Given the description of an element on the screen output the (x, y) to click on. 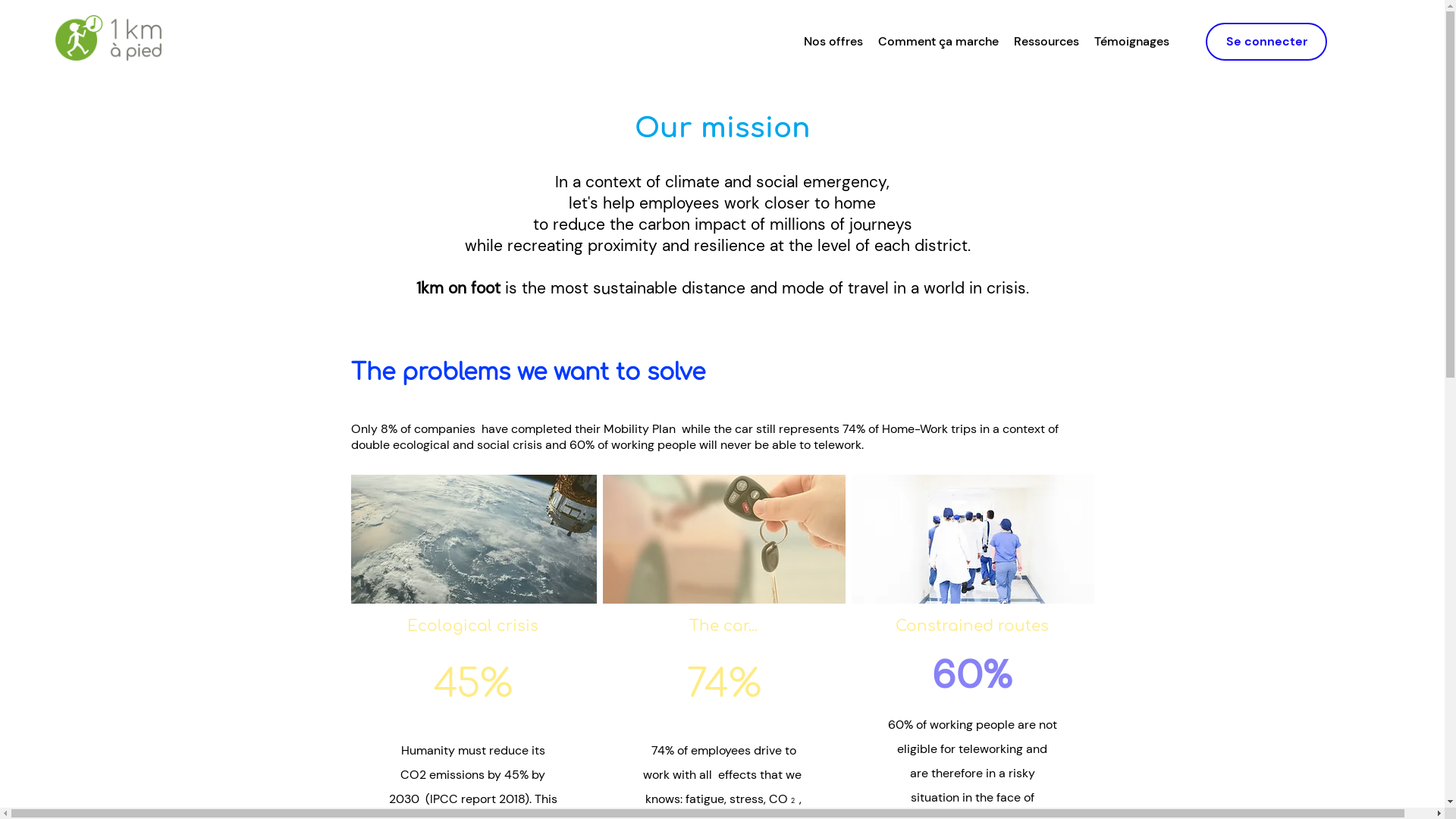
Analyse et opimisation des trajets Domicile Travail Element type: hover (108, 37)
Se connecter Element type: text (1266, 41)
Nos offres Element type: text (833, 41)
Ressources Element type: text (1046, 41)
